Given the description of an element on the screen output the (x, y) to click on. 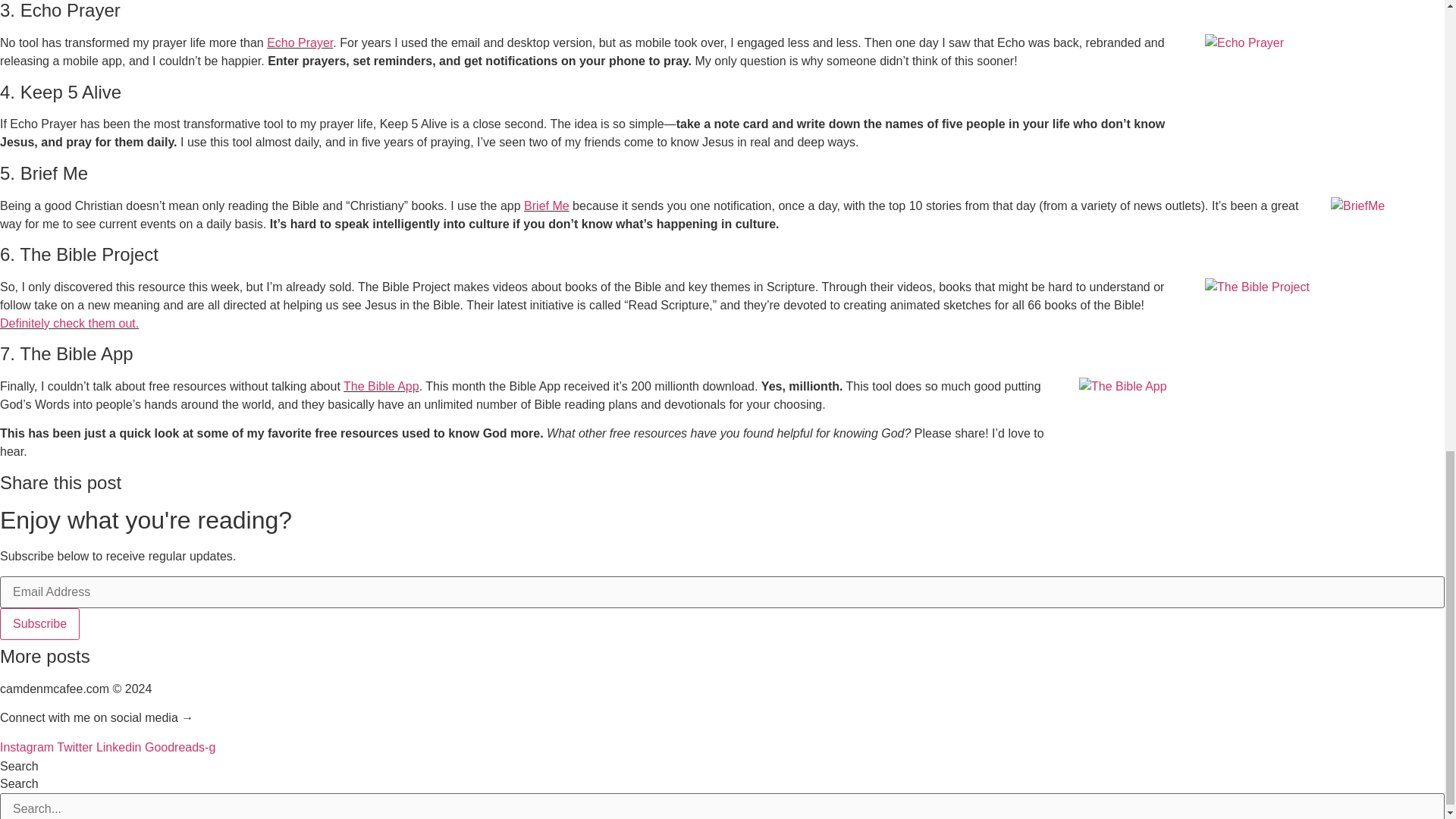
Subscribe (40, 623)
Twitter (76, 747)
Linkedin (120, 747)
Definitely check them out. (69, 323)
The Bible App (381, 386)
Brief Me (546, 205)
Echo Prayer (299, 42)
Instagram (28, 747)
Goodreads-g (179, 747)
